Given the description of an element on the screen output the (x, y) to click on. 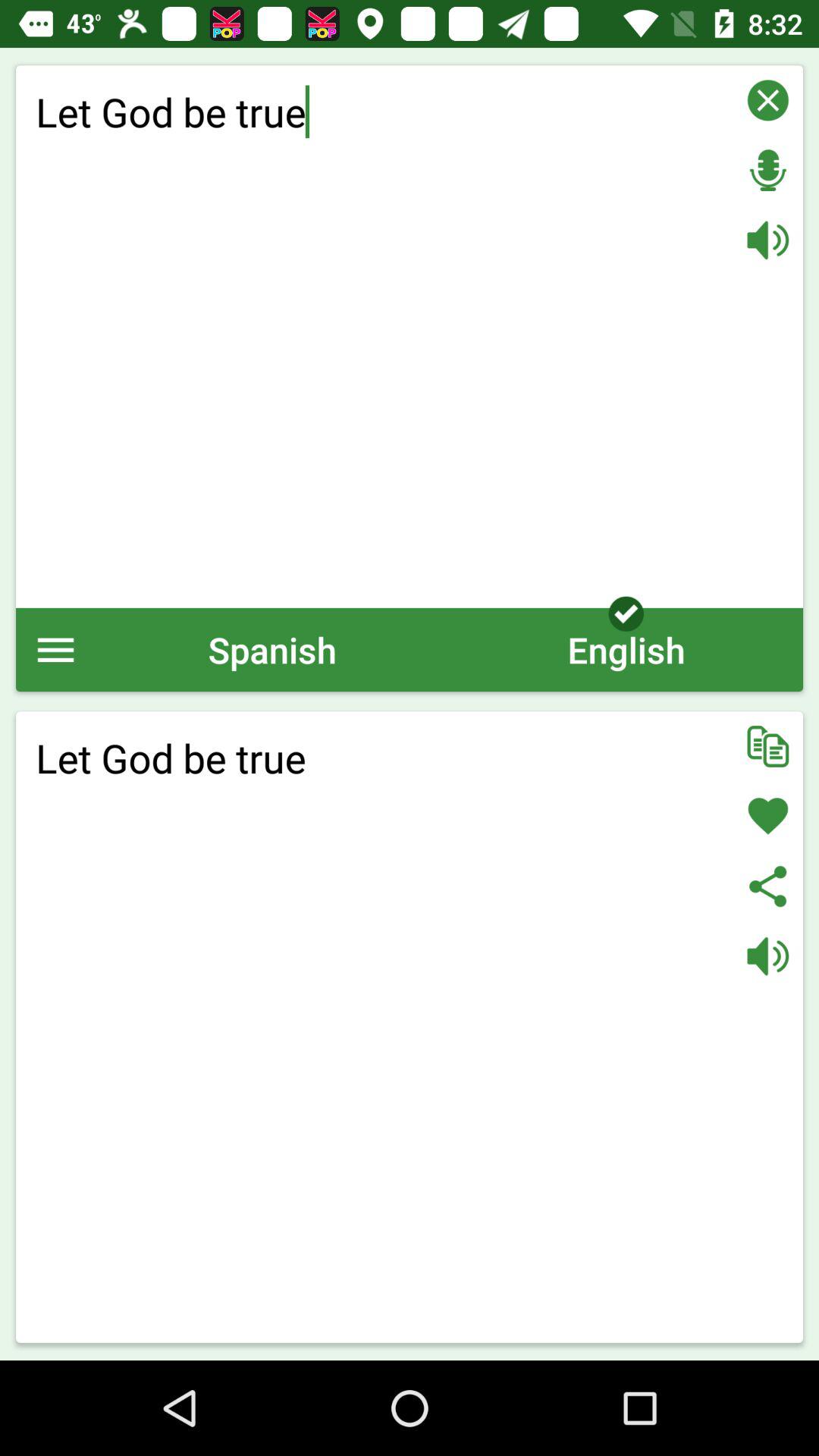
toggle favorite (768, 816)
